Given the description of an element on the screen output the (x, y) to click on. 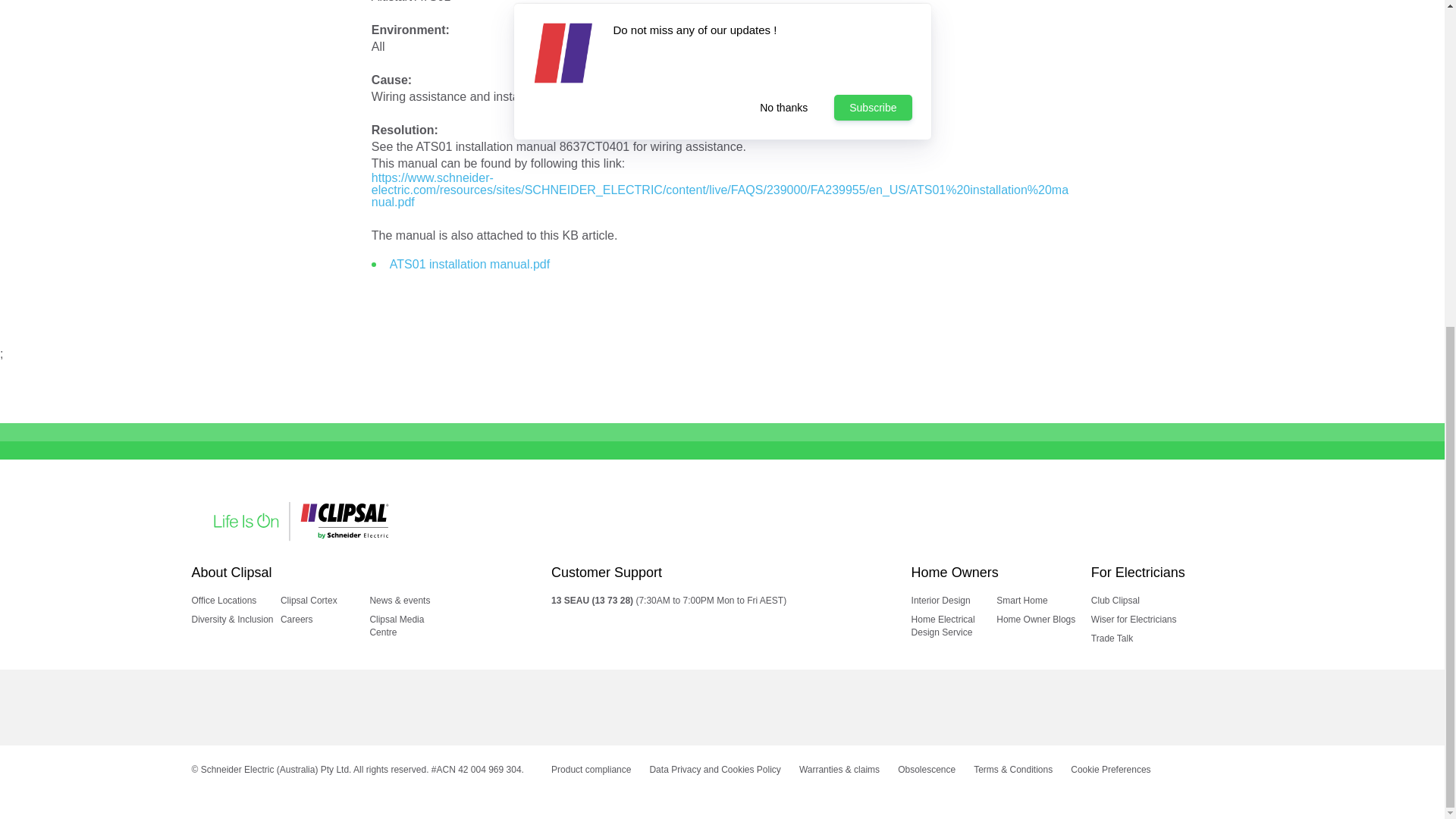
Cookies (1110, 769)
